Given the description of an element on the screen output the (x, y) to click on. 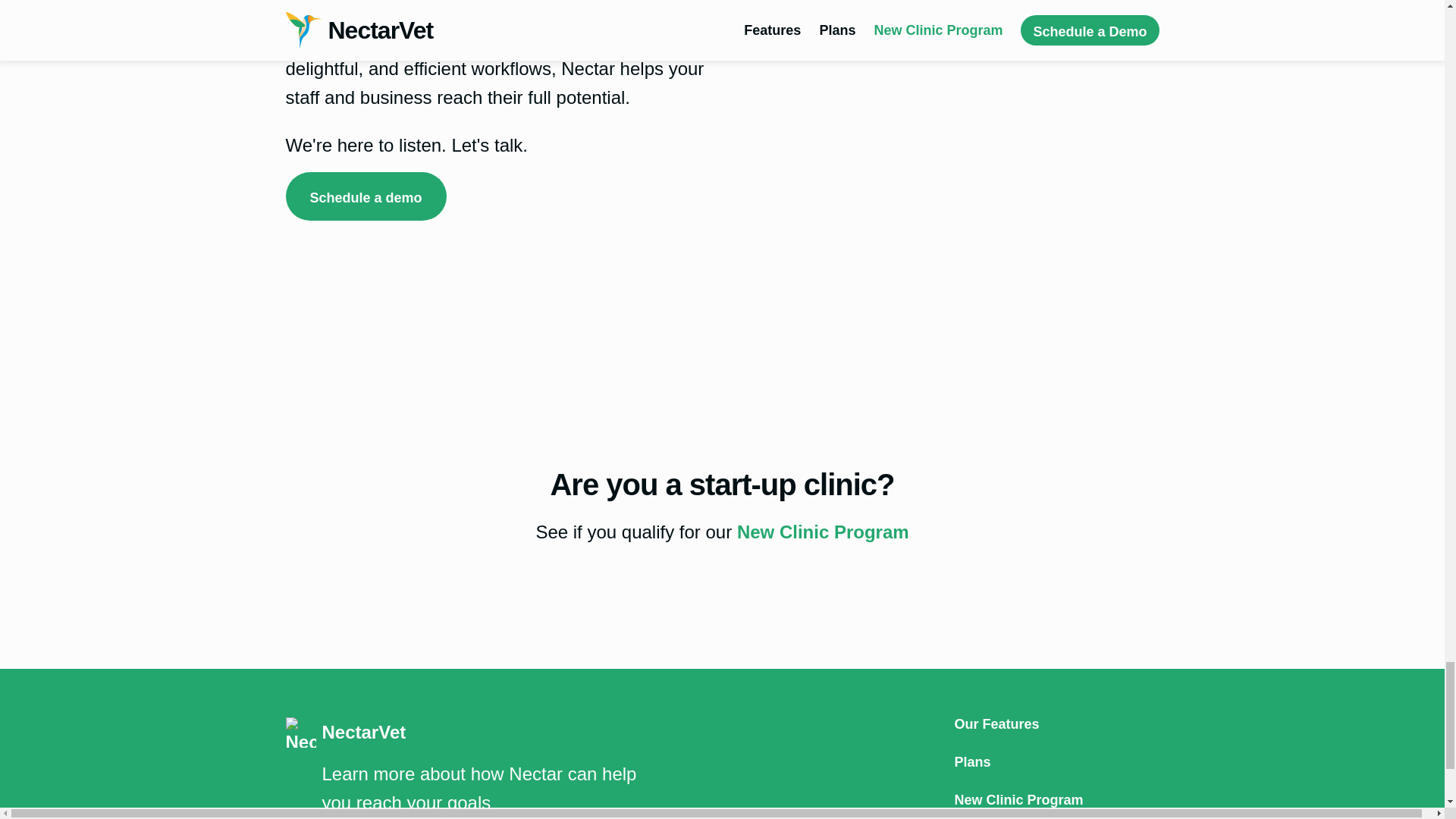
Our Features (1055, 724)
Our Features (1055, 724)
NectarVet (462, 732)
Schedule a demo (365, 195)
New Clinic Program (1055, 799)
Plans (1055, 762)
NectarVet (462, 732)
New Clinic Program (822, 531)
